Given the description of an element on the screen output the (x, y) to click on. 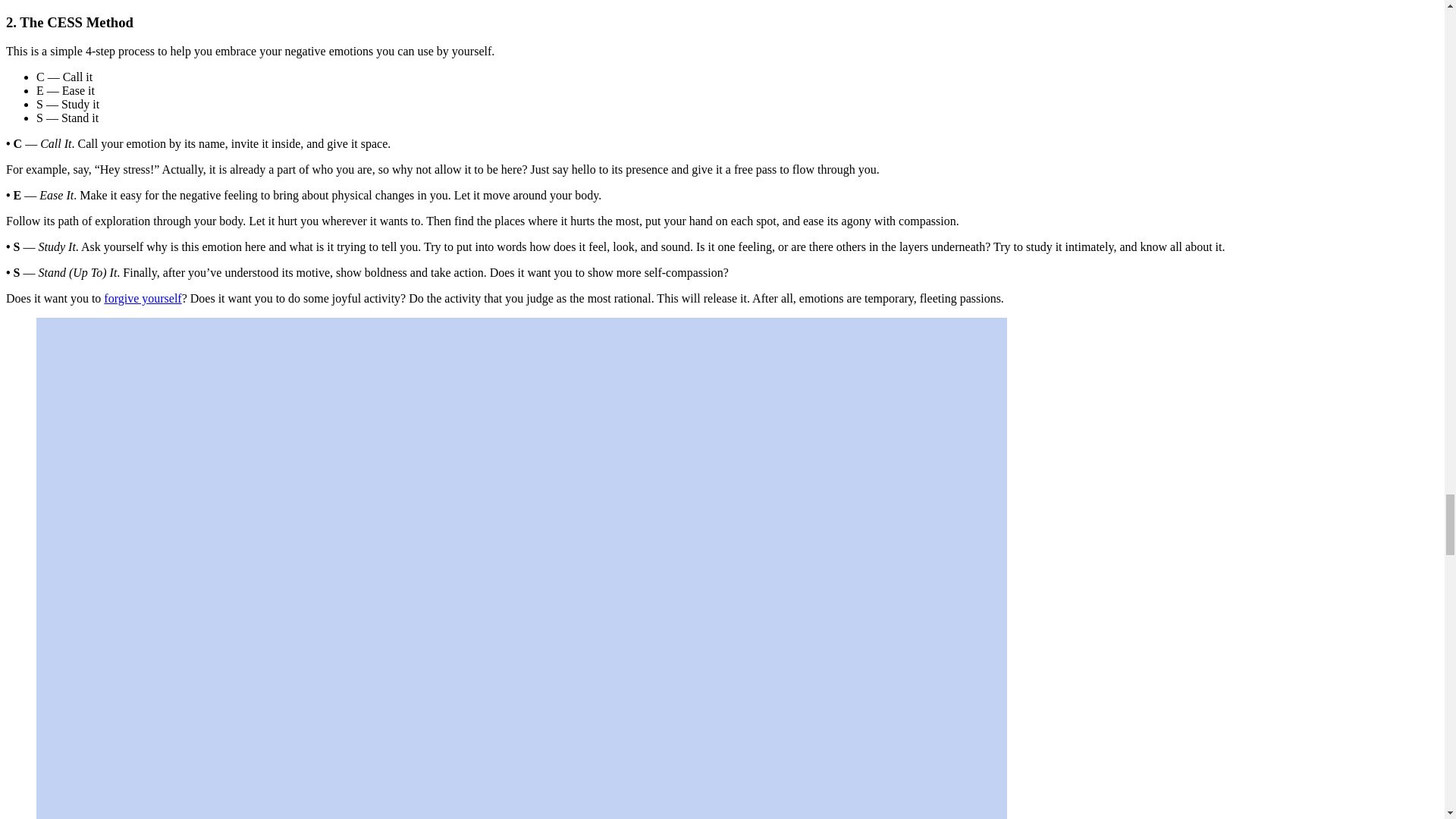
forgive yourself (141, 297)
